Given the description of an element on the screen output the (x, y) to click on. 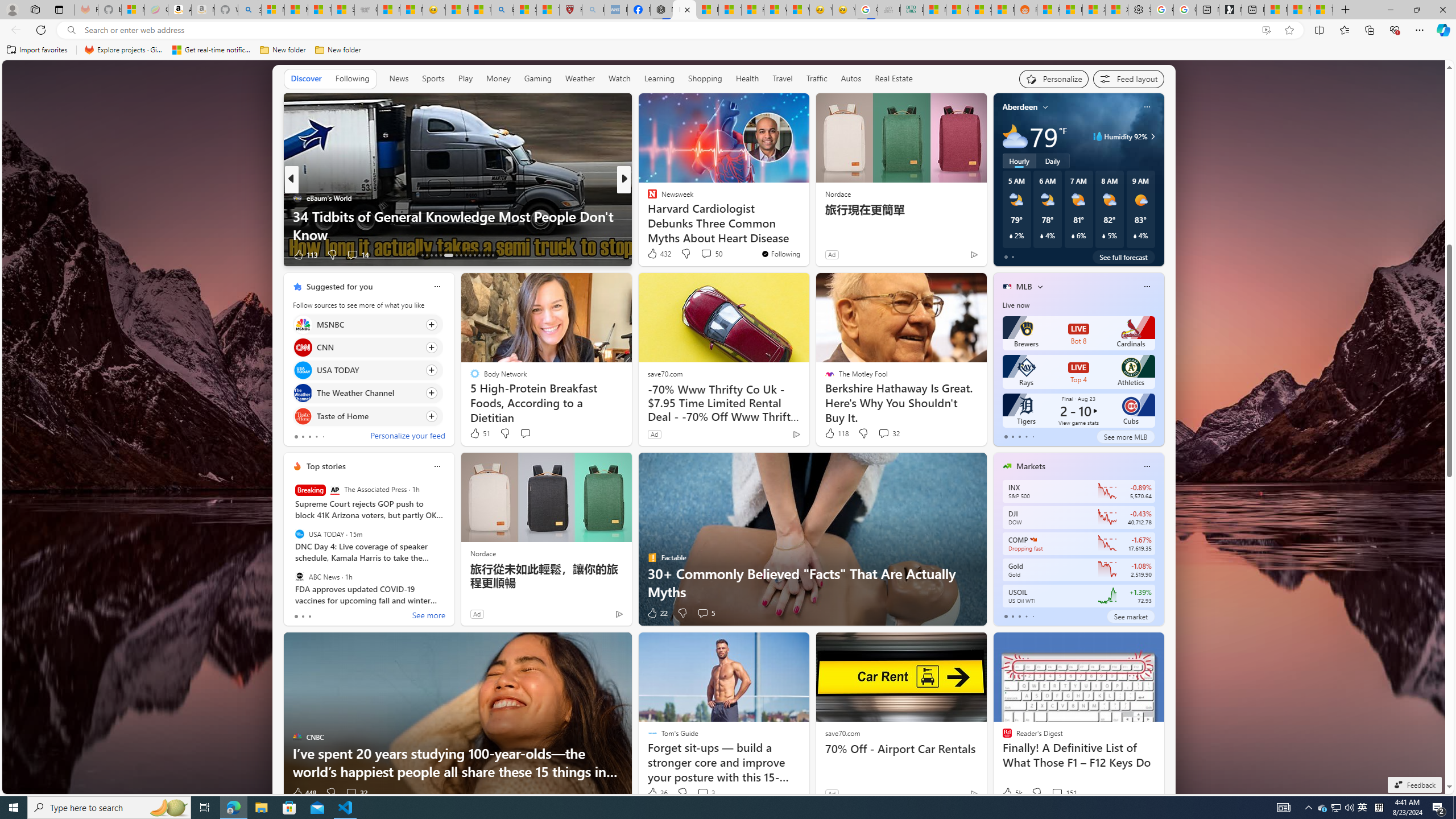
Daily (1052, 160)
Combat Siege (365, 9)
118 Like (835, 433)
tab-0 (1005, 616)
451 Like (654, 254)
5k Like (1010, 792)
Study finds three biggest risk factors for dementia (807, 234)
Autos (850, 79)
View comments 12 Comment (6, 254)
